Given the description of an element on the screen output the (x, y) to click on. 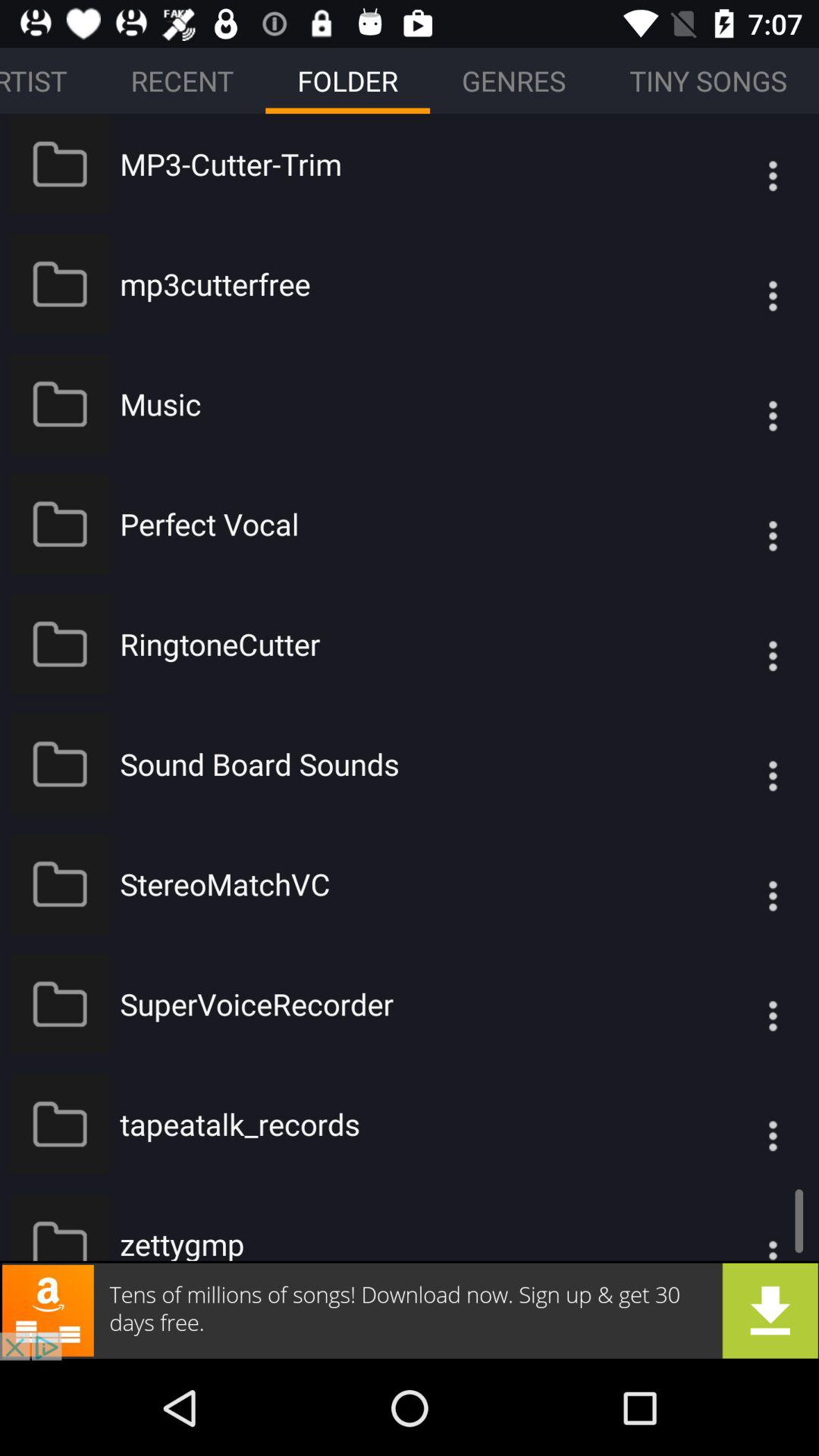
click on the options which is beside text stereomatvhvc (742, 883)
select the icon  which is to the right of the mp3cutterfree (742, 283)
select the folder icon which is before sound board sounds on the page (59, 763)
click on the folder icon which is left hand side of the text stereo match vc (59, 884)
